Given the description of an element on the screen output the (x, y) to click on. 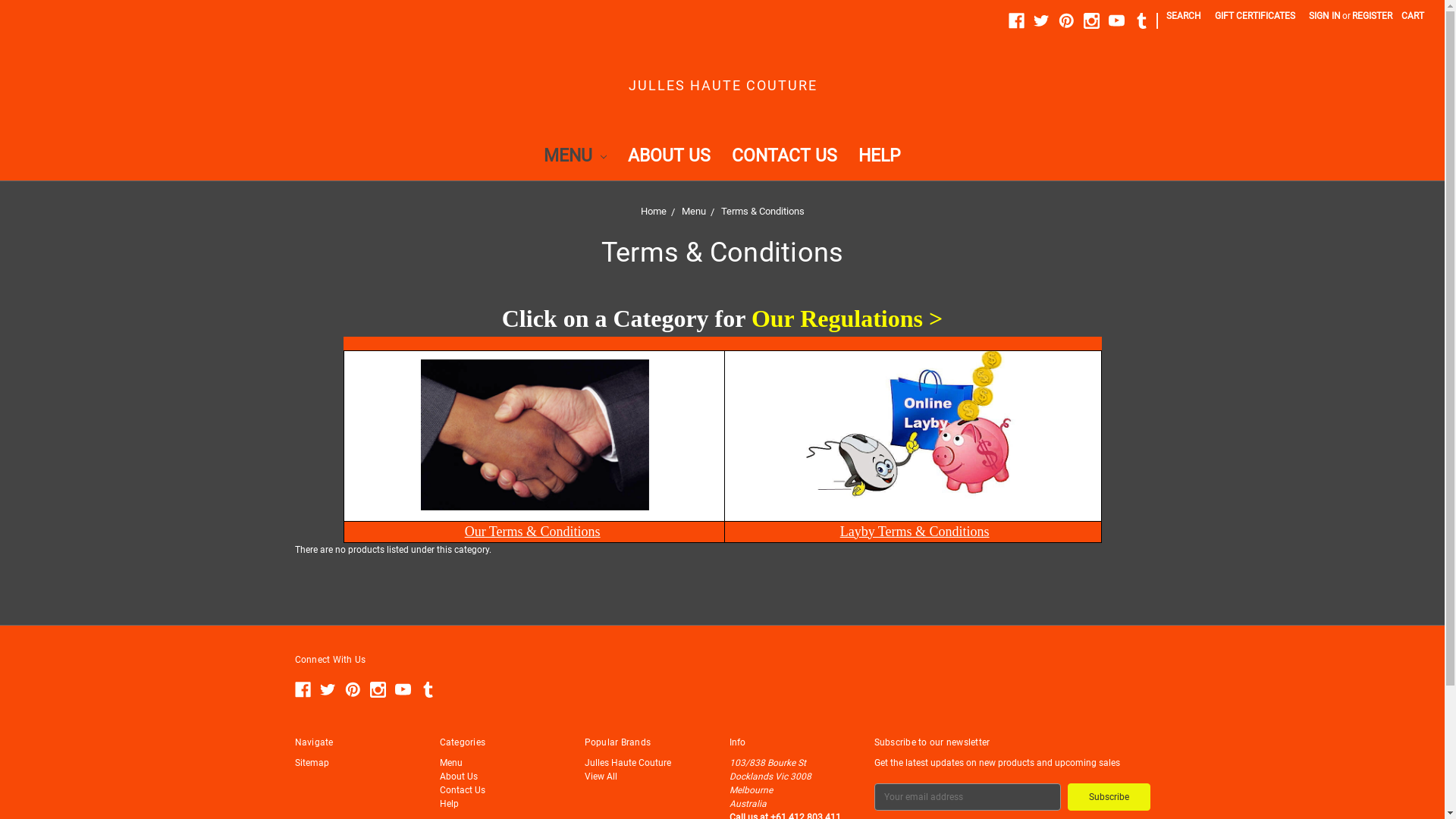
MENU Element type: text (575, 158)
Subscribe Element type: text (1108, 795)
Menu Element type: text (692, 210)
Help Element type: text (448, 802)
Layby Terms & Conditions Element type: text (914, 530)
Contact Us Element type: text (462, 789)
layby2.jpg Element type: hover (913, 435)
About Us Element type: text (458, 775)
CART Element type: text (1412, 15)
ABOUT US Element type: text (669, 158)
SIGN IN Element type: text (1324, 15)
SEARCH Element type: text (1183, 15)
Julles Haute Couture Element type: text (626, 761)
CONTACT US Element type: text (784, 158)
HELP Element type: text (879, 158)
handshake.png Element type: hover (534, 435)
Sitemap Element type: text (311, 761)
REGISTER Element type: text (1372, 15)
Home Element type: text (652, 210)
Menu Element type: text (450, 761)
View All Element type: text (599, 775)
GIFT CERTIFICATES Element type: text (1255, 15)
Our Terms & Conditions Element type: text (532, 530)
